Given the description of an element on the screen output the (x, y) to click on. 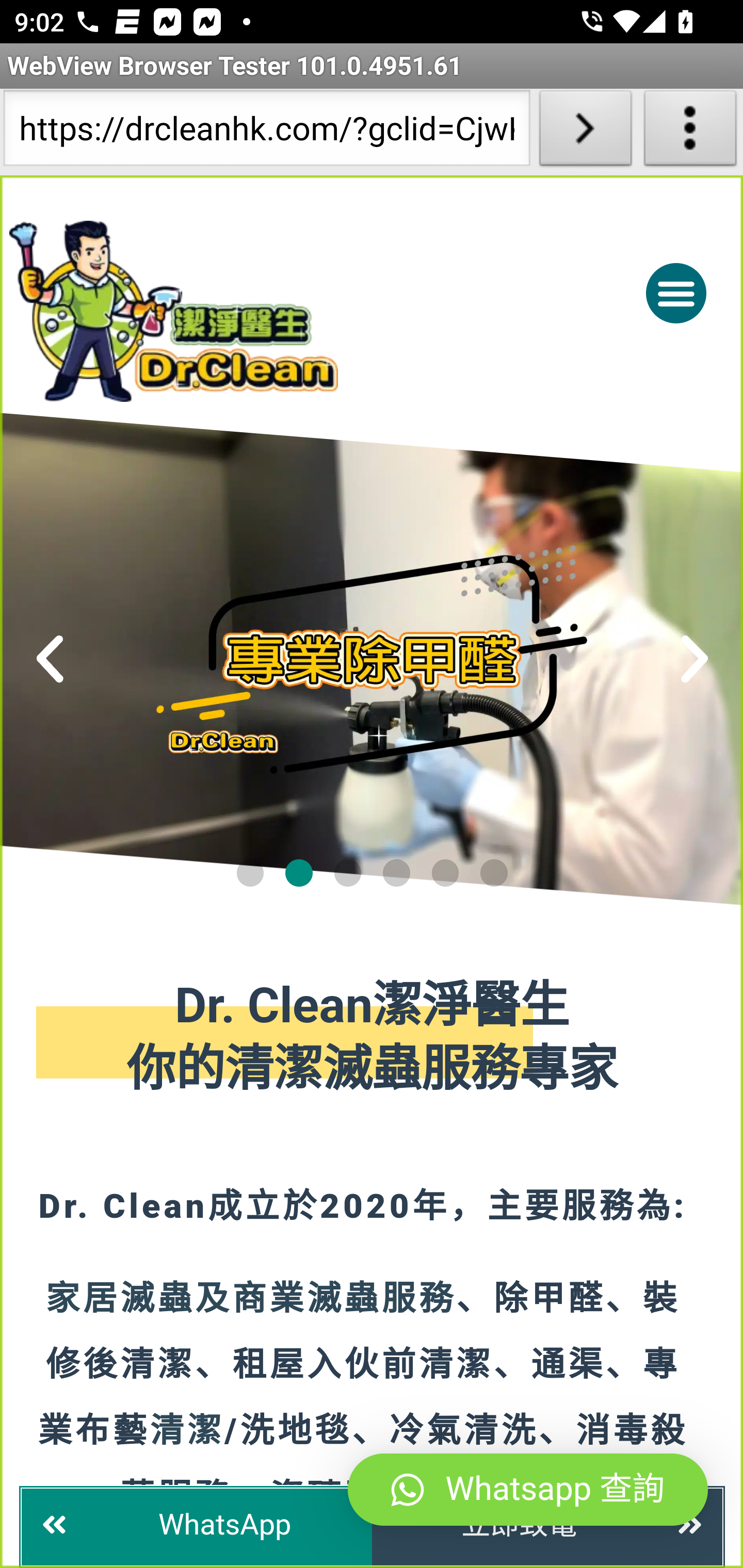
Load URL (585, 132)
About WebView (690, 132)
drcleanhk (254, 309)
Menu Toggle (675, 292)
Previous slide (50, 659)
Next slide (694, 659)
Go to slide 1 (248, 872)
Go to slide 2 (299, 872)
Go to slide 3 (347, 872)
Go to slide 4 (396, 872)
Go to slide 5 (444, 872)
Go to slide 6 (494, 872)
Dr. Clean潔淨醫生 你的清潔滅蟲服務專家 (372, 1038)
 Whatsapp 查詢 (527, 1490)
